Given the description of an element on the screen output the (x, y) to click on. 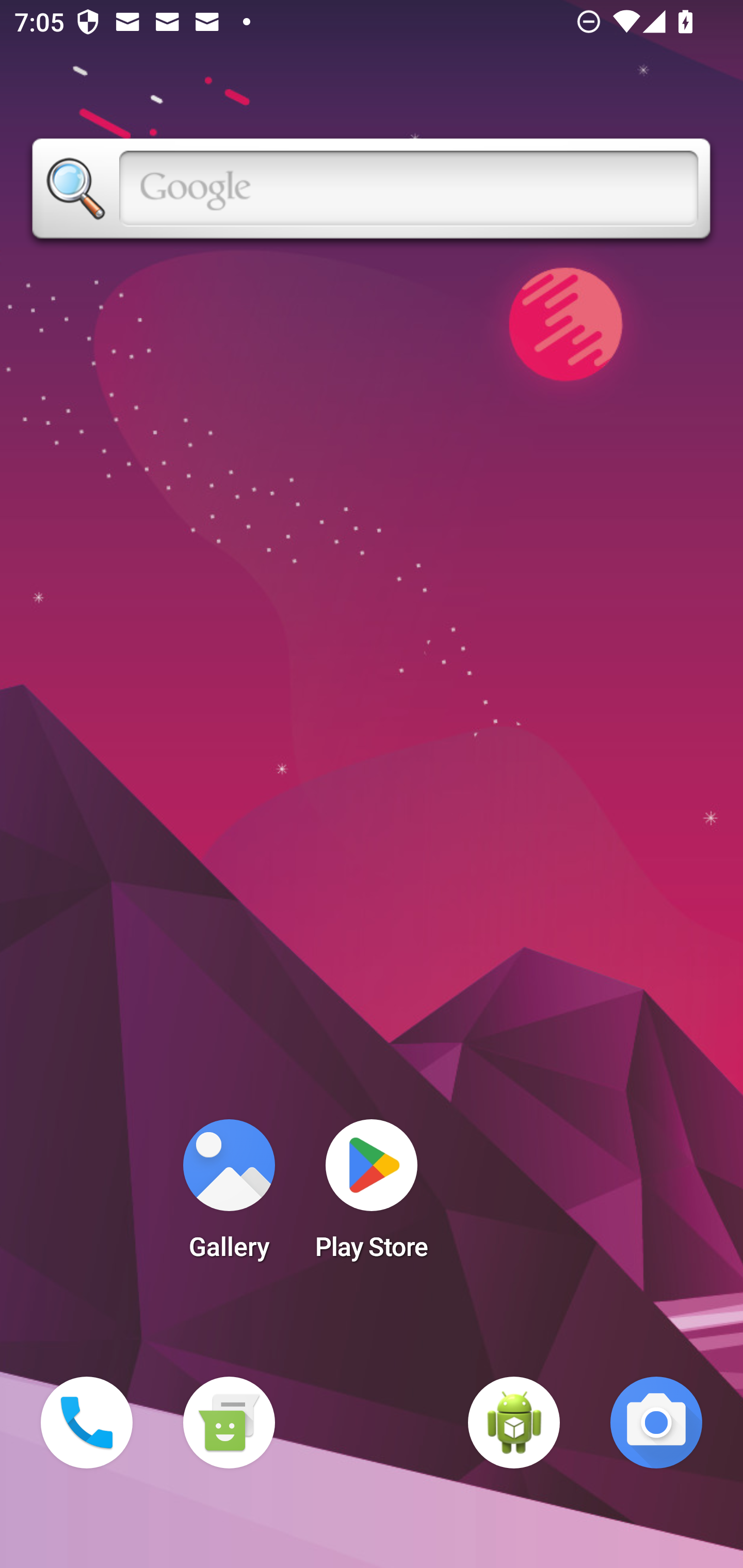
Gallery (228, 1195)
Play Store (371, 1195)
Phone (86, 1422)
Messaging (228, 1422)
WebView Browser Tester (513, 1422)
Camera (656, 1422)
